Given the description of an element on the screen output the (x, y) to click on. 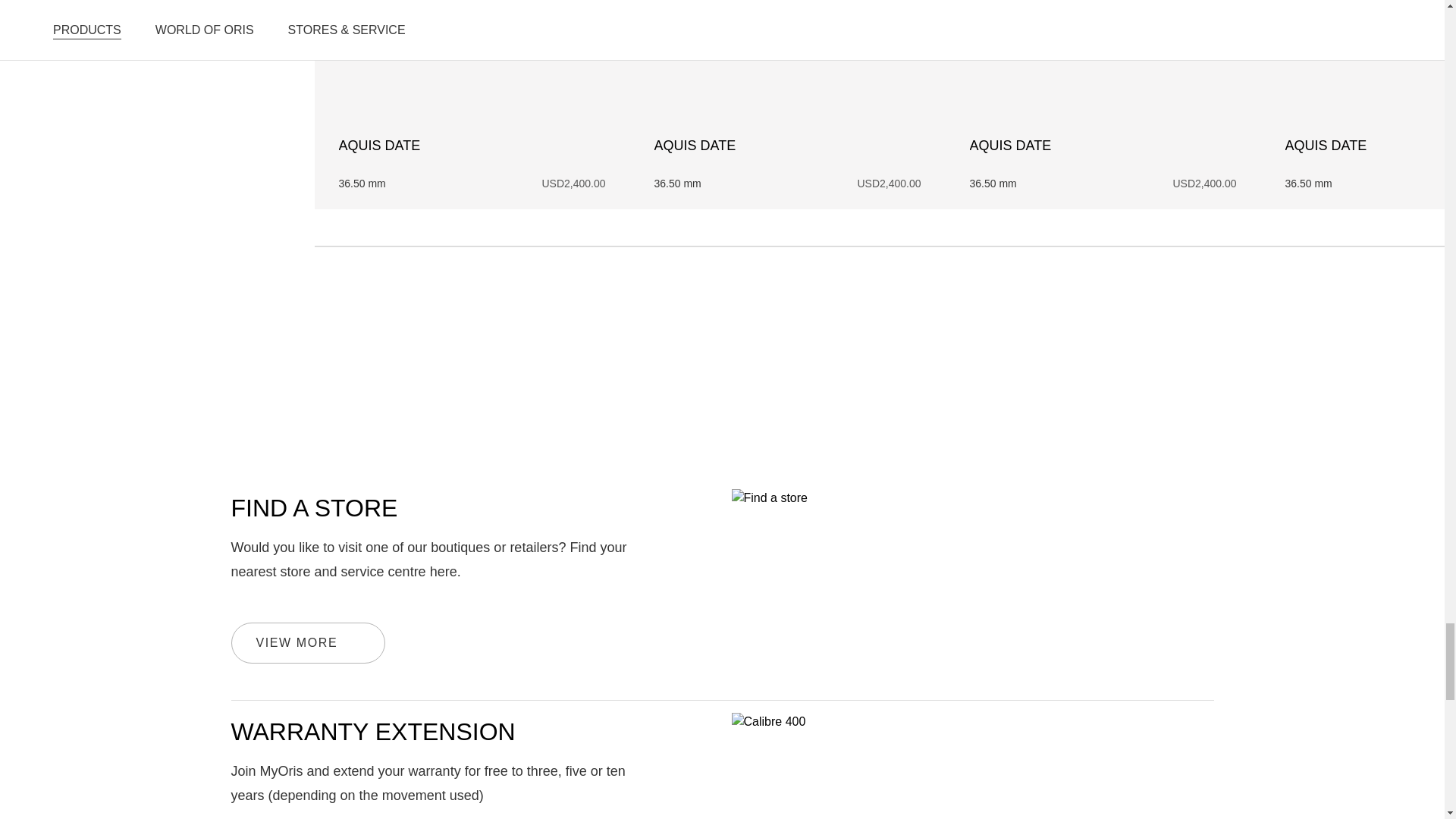
VIEW MORE (307, 642)
